Given the description of an element on the screen output the (x, y) to click on. 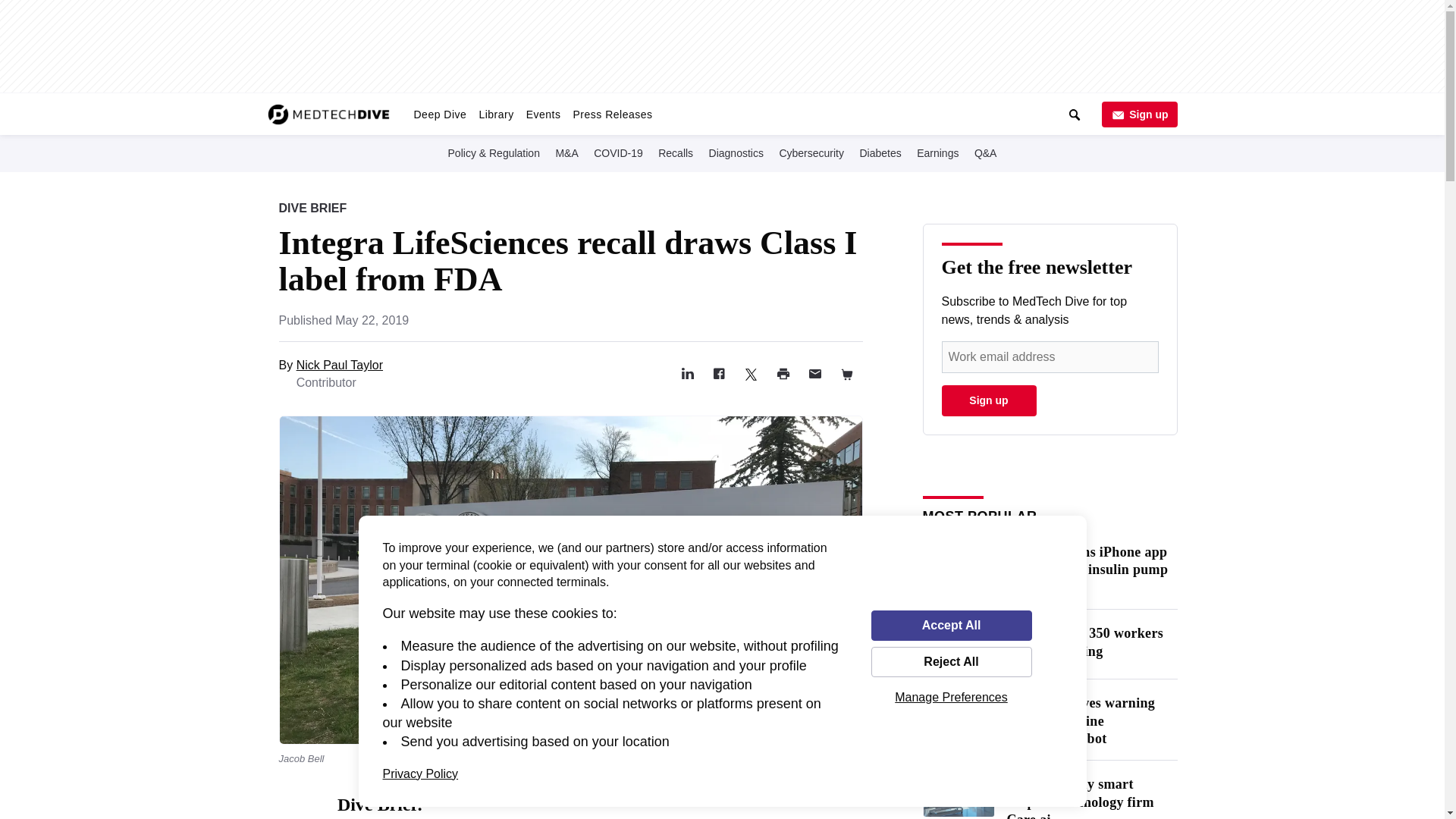
Diagnostics (736, 152)
Deep Dive (440, 114)
Manage Preferences (950, 697)
Diabetes (880, 152)
Press Releases (612, 114)
Cybersecurity (811, 152)
Events (543, 114)
Privacy Policy (419, 773)
Sign up (1138, 114)
Library (495, 114)
